Given the description of an element on the screen output the (x, y) to click on. 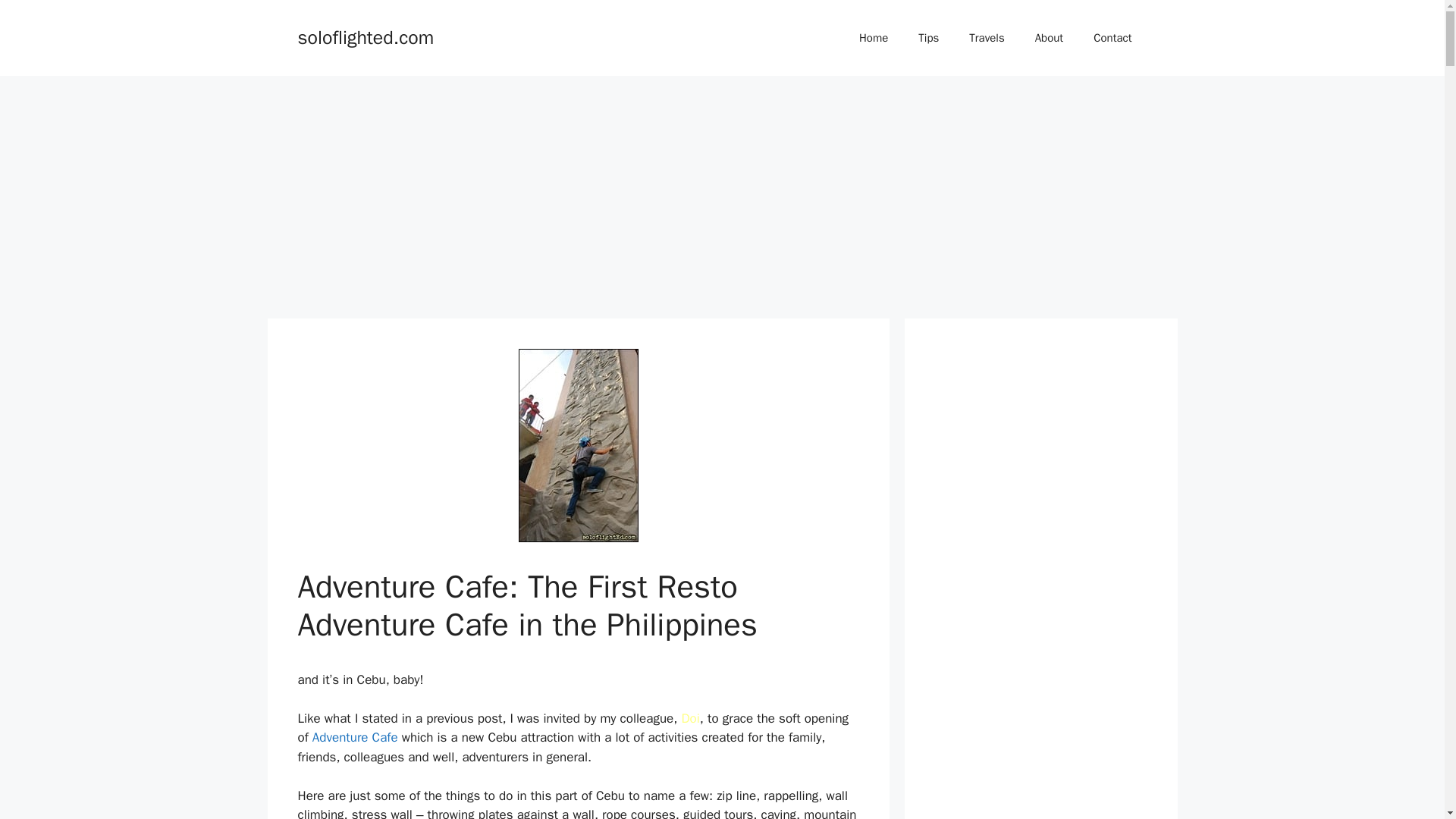
Contact (1112, 37)
Home (873, 37)
Travels (986, 37)
Adventure Cafe (355, 737)
Tips (927, 37)
About (1049, 37)
Doi (689, 718)
soloflightEd (873, 37)
soloflighted.com (365, 37)
